Given the description of an element on the screen output the (x, y) to click on. 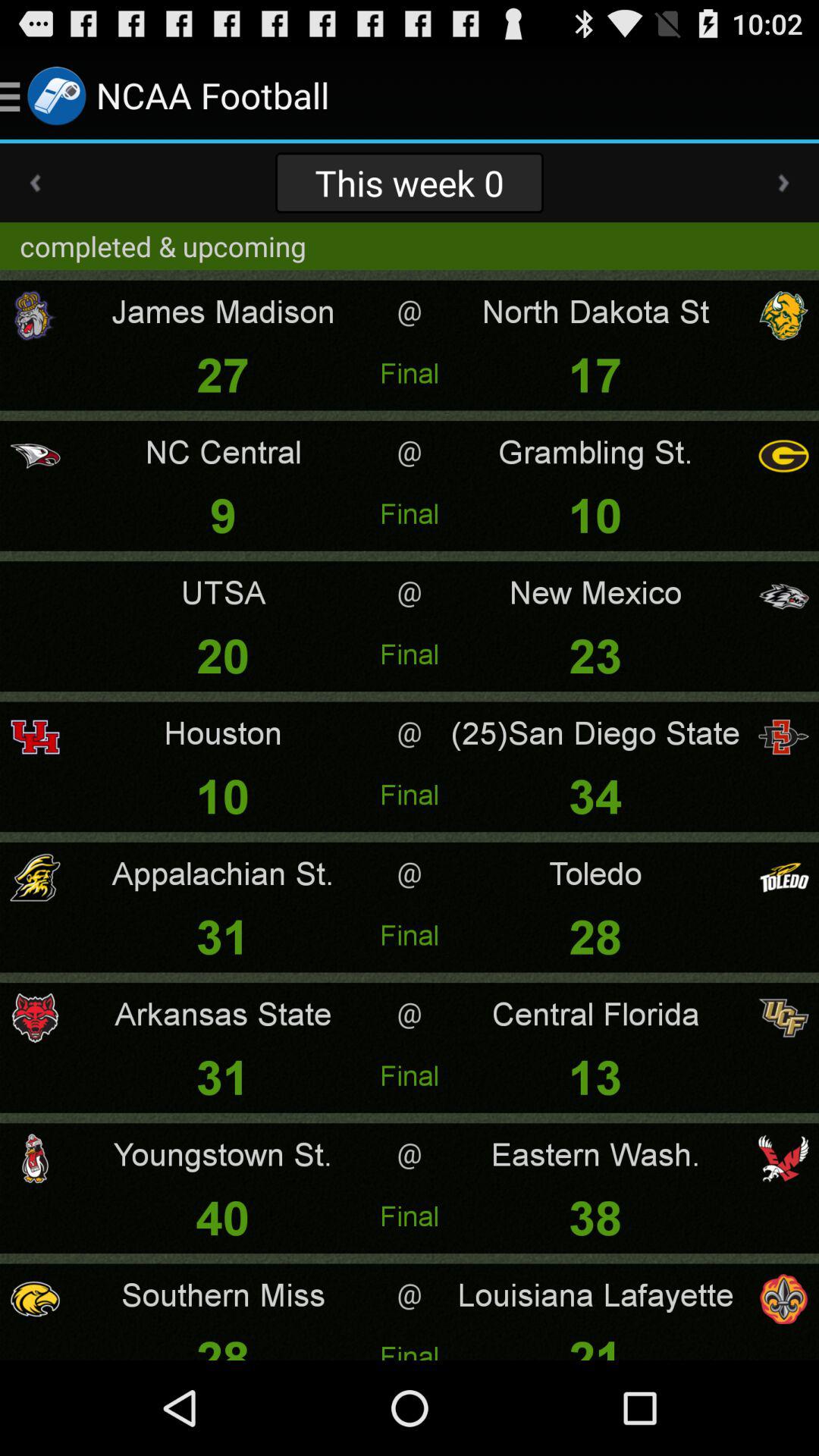
turn off the this week 0 (409, 182)
